Given the description of an element on the screen output the (x, y) to click on. 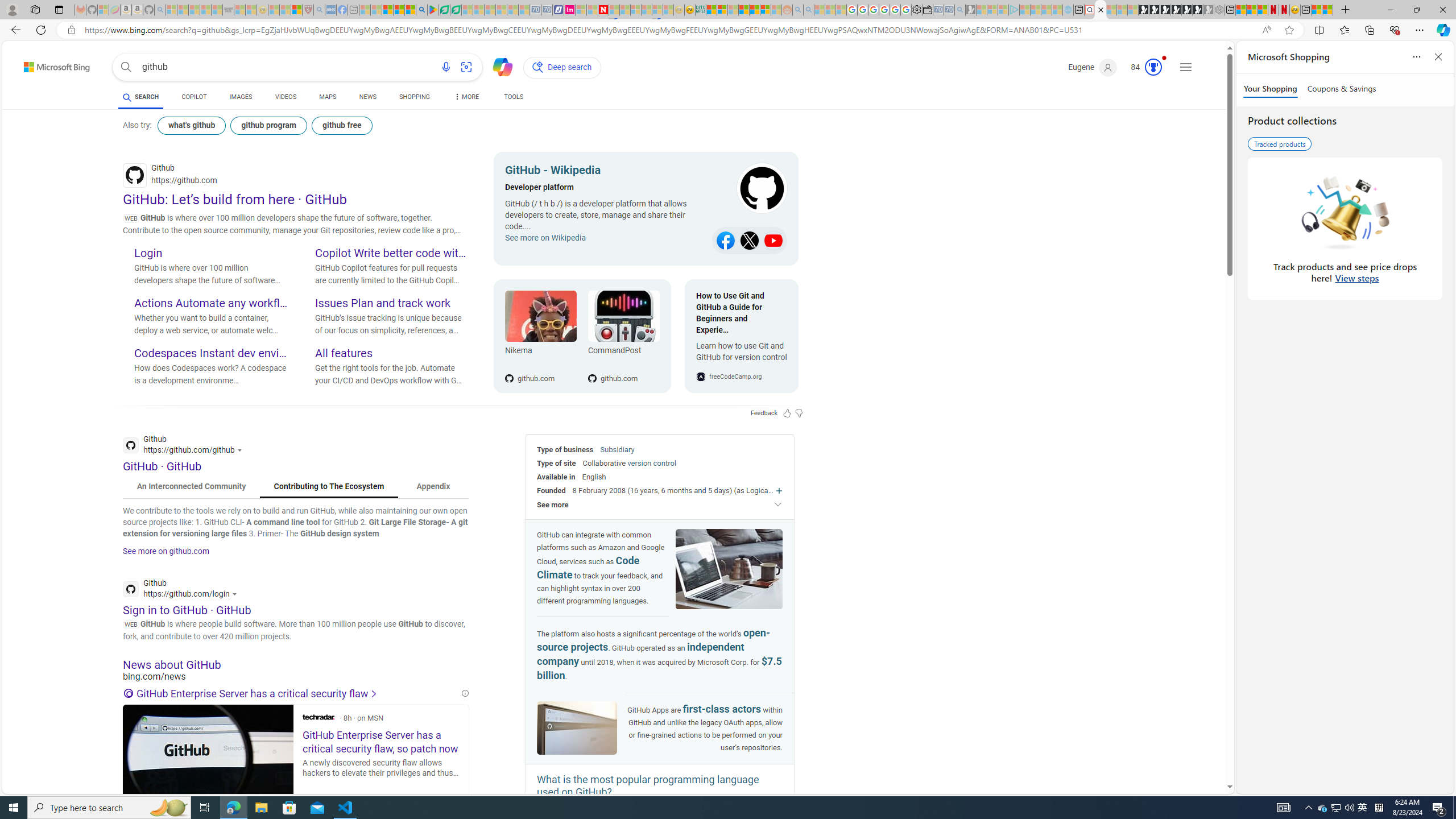
Issues Plan and track work (391, 304)
github program (268, 125)
bing.com/news (295, 676)
Contributing to The Ecosystem (328, 486)
CommandPost CommandPost github.com (617, 335)
Microsoft Word - consumer-privacy address update 2.2021 (455, 9)
Cheap Car Rentals - Save70.com - Sleeping (949, 9)
New Report Confirms 2023 Was Record Hot | Watch - Sleeping (216, 9)
Wildlife - MSN (1316, 9)
Chat (497, 65)
